Given the description of an element on the screen output the (x, y) to click on. 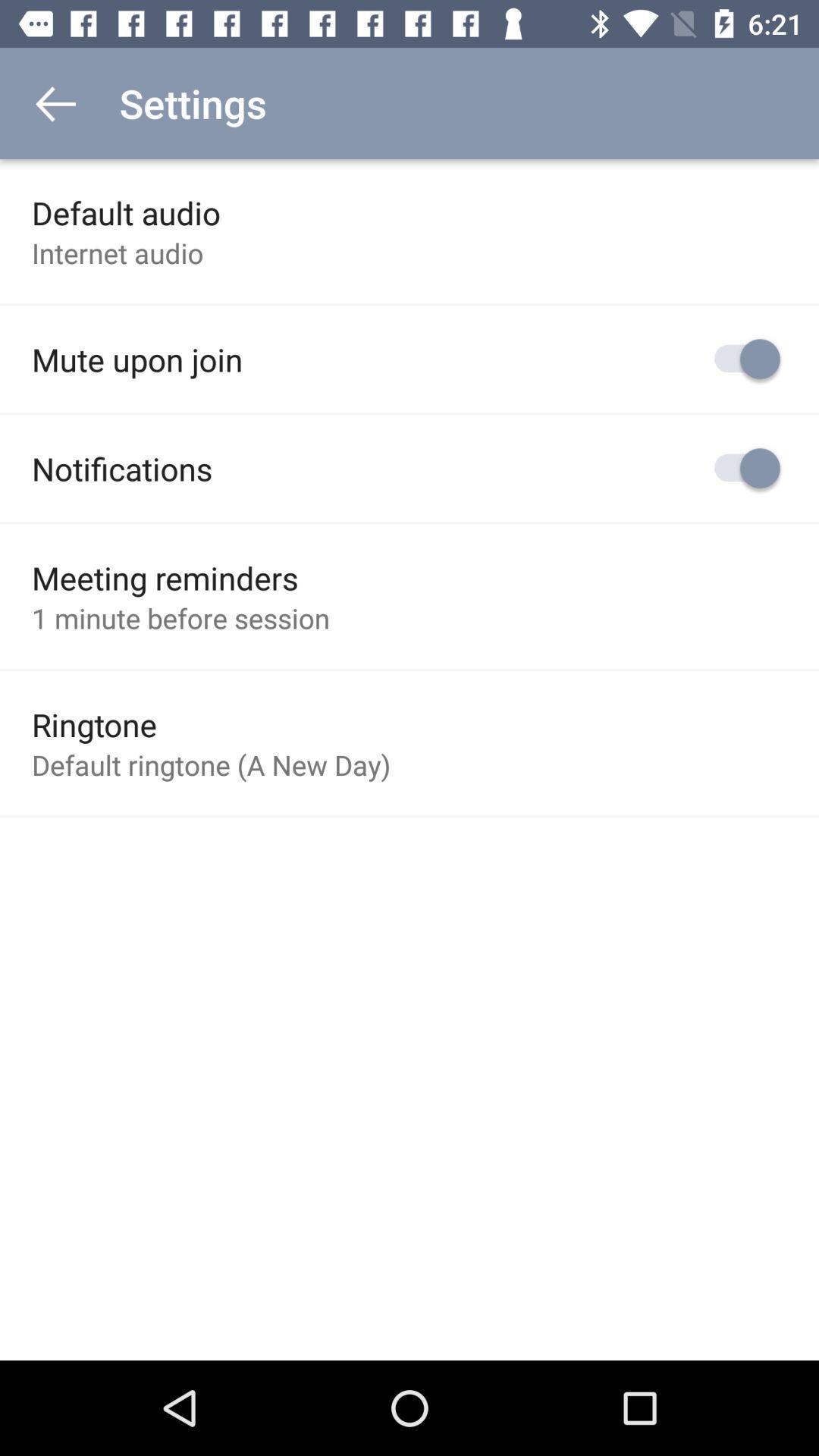
turn off the icon above meeting reminders icon (121, 468)
